Given the description of an element on the screen output the (x, y) to click on. 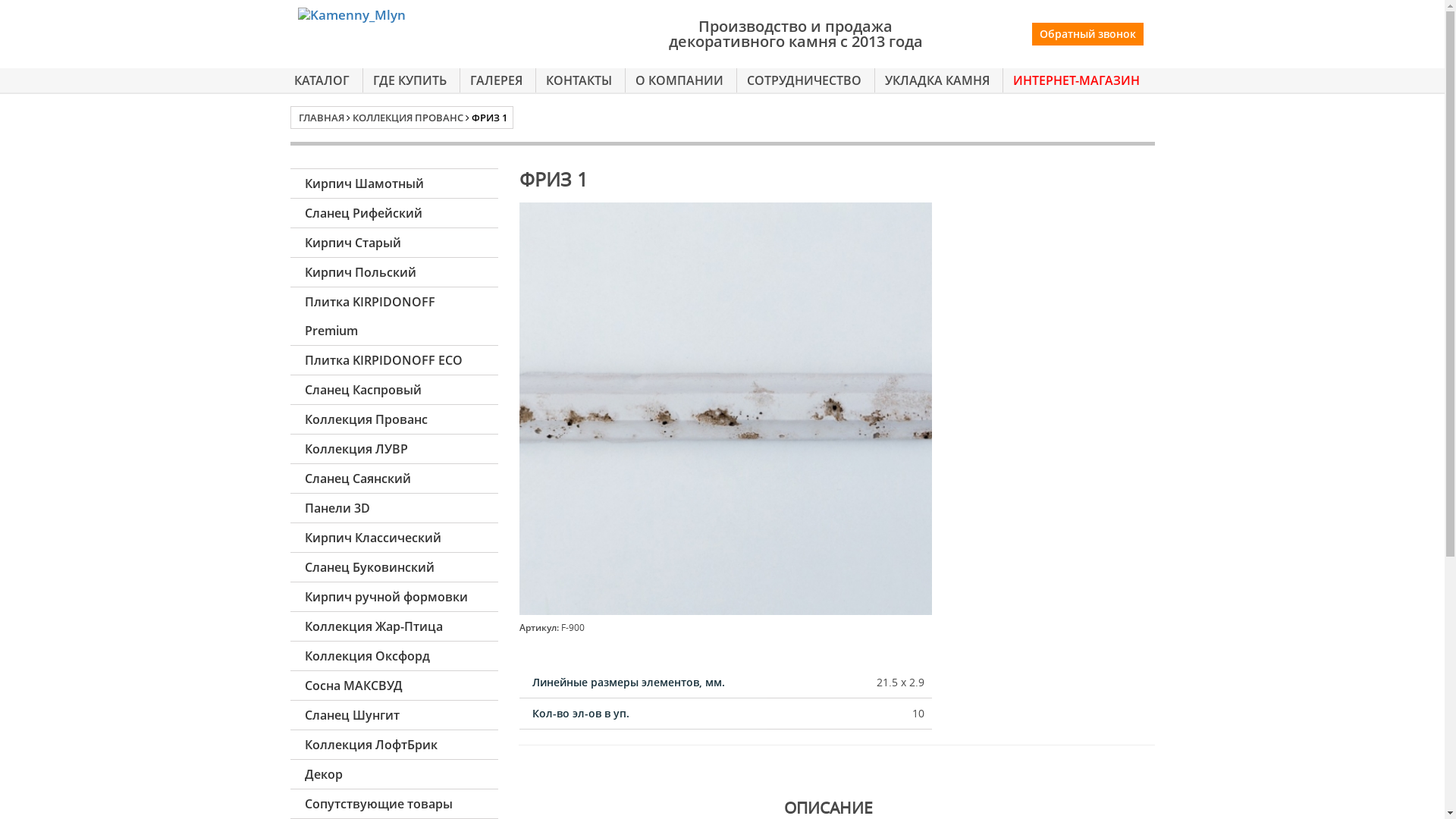
Kamenny_Mlyn Element type: hover (430, 14)
F-900 Element type: hover (725, 408)
F-900 Element type: hover (725, 407)
